Given the description of an element on the screen output the (x, y) to click on. 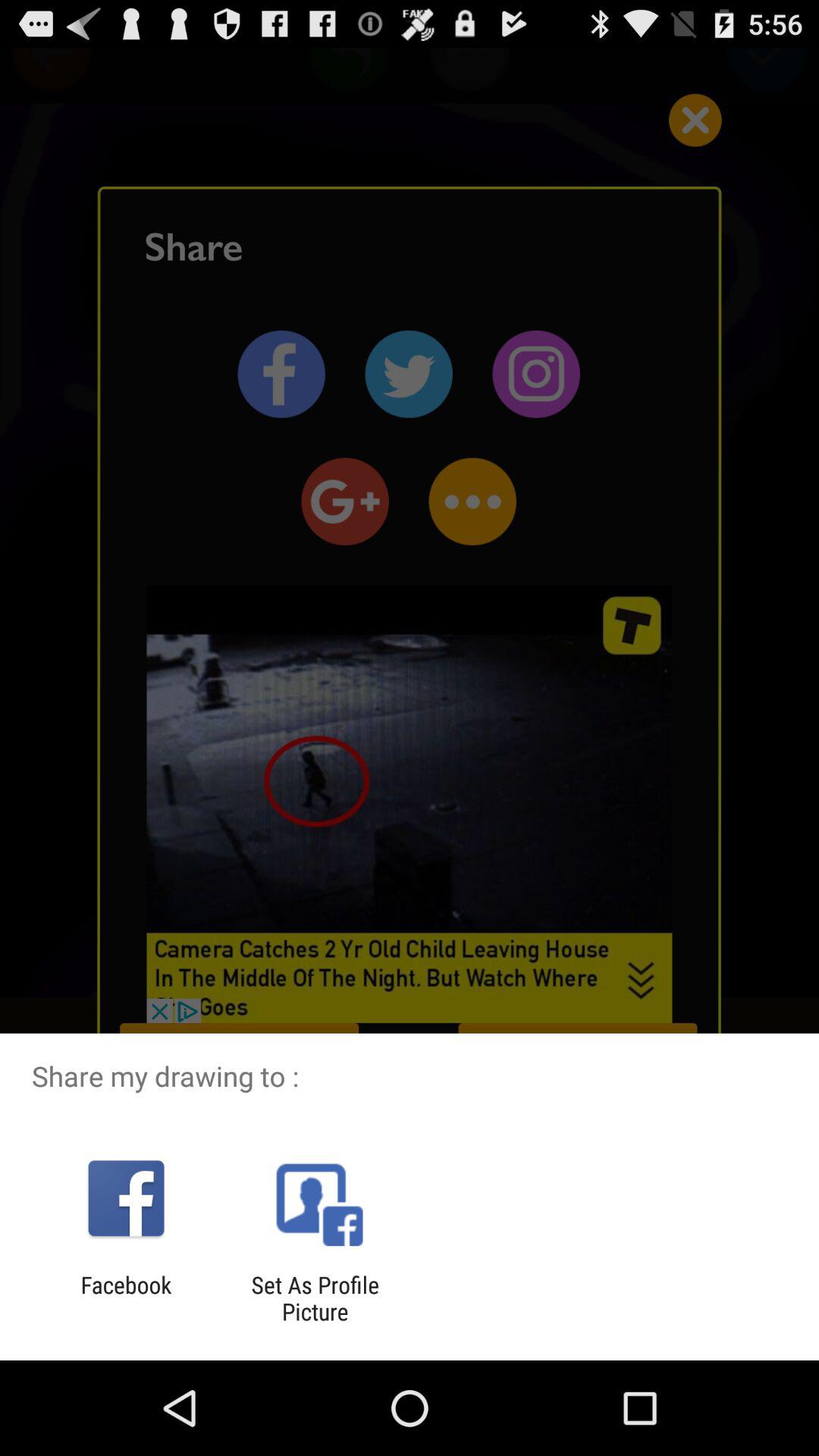
select the icon to the right of the facebook icon (314, 1298)
